Given the description of an element on the screen output the (x, y) to click on. 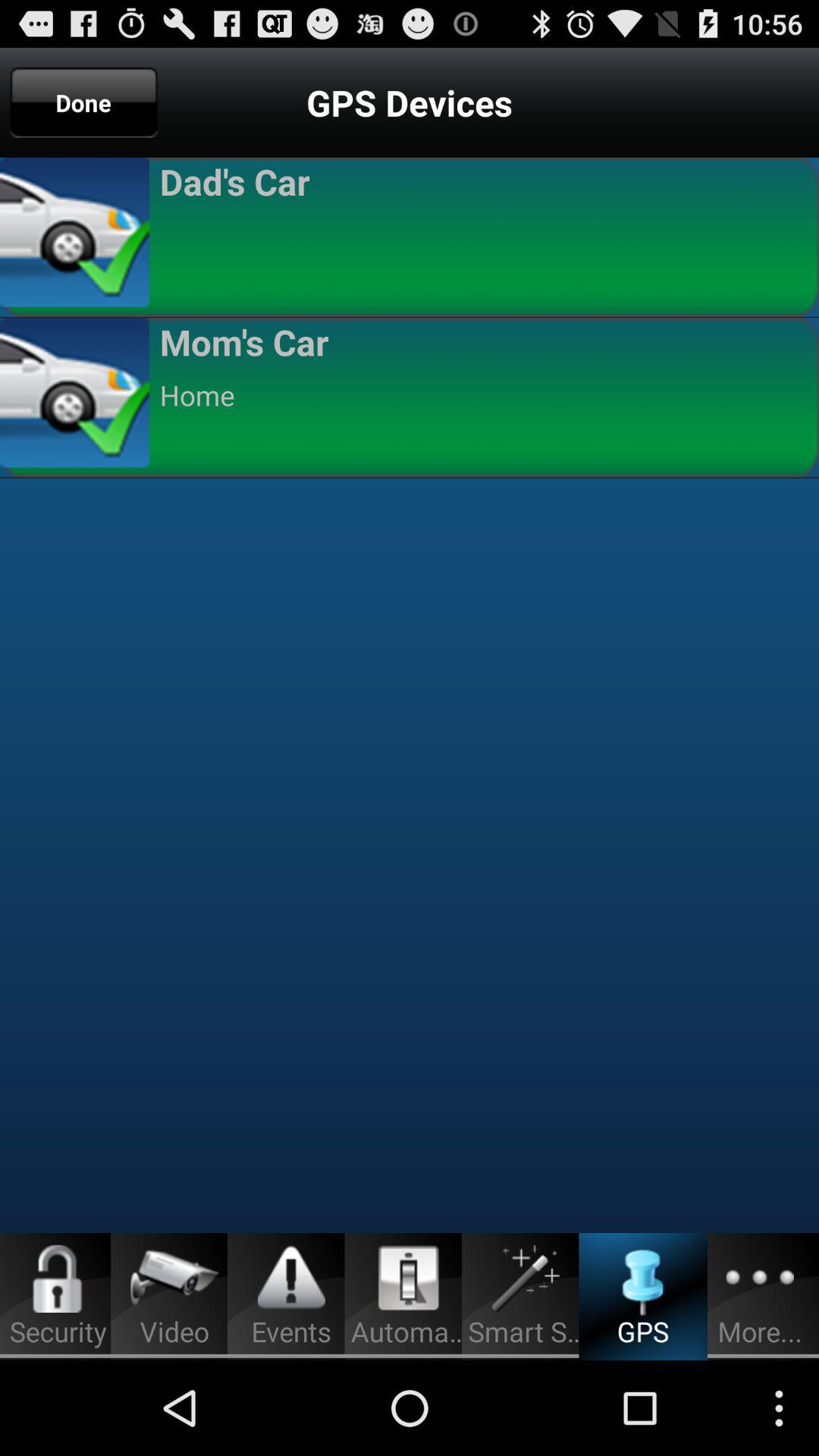
choose app above the mom's car app (481, 234)
